Given the description of an element on the screen output the (x, y) to click on. 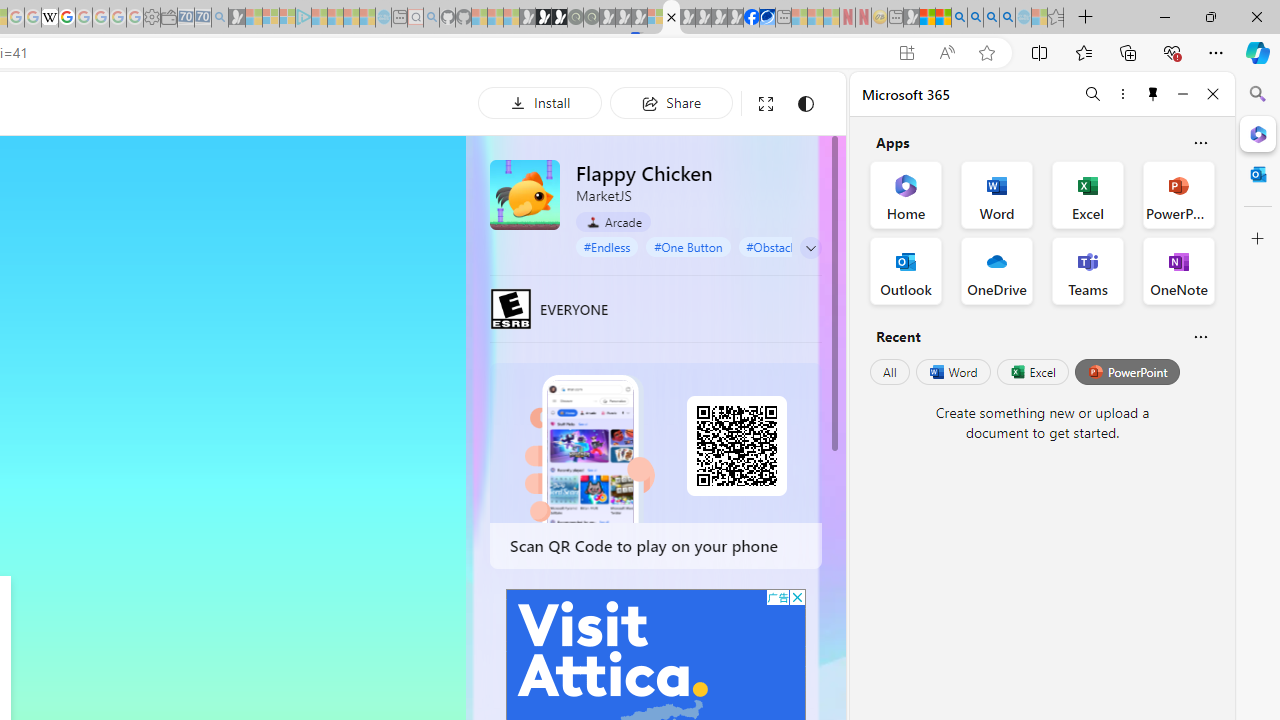
Target page - Wikipedia (49, 17)
Share (671, 102)
Wallet - Sleeping (168, 17)
PowerPoint Office App (1178, 194)
github - Search - Sleeping (431, 17)
Class: expand-arrow neutral (810, 247)
Excel (1031, 372)
Word Office App (996, 194)
